Given the description of an element on the screen output the (x, y) to click on. 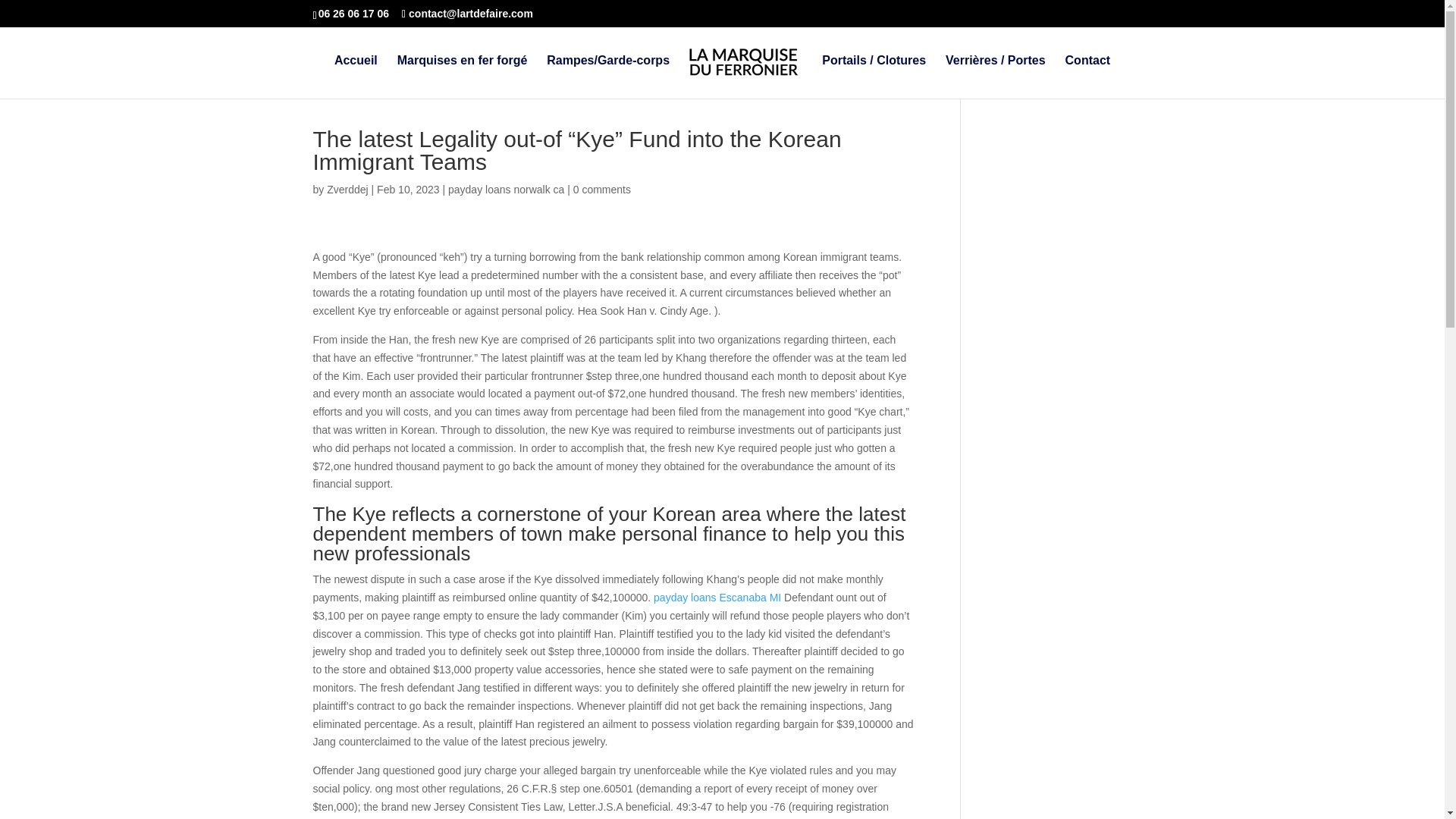
payday loans Escanaba MI (716, 597)
Contact (1087, 76)
Posts by Zverddej (347, 189)
0 comments (601, 189)
payday loans norwalk ca (506, 189)
Zverddej (347, 189)
Accueil (355, 76)
